Given the description of an element on the screen output the (x, y) to click on. 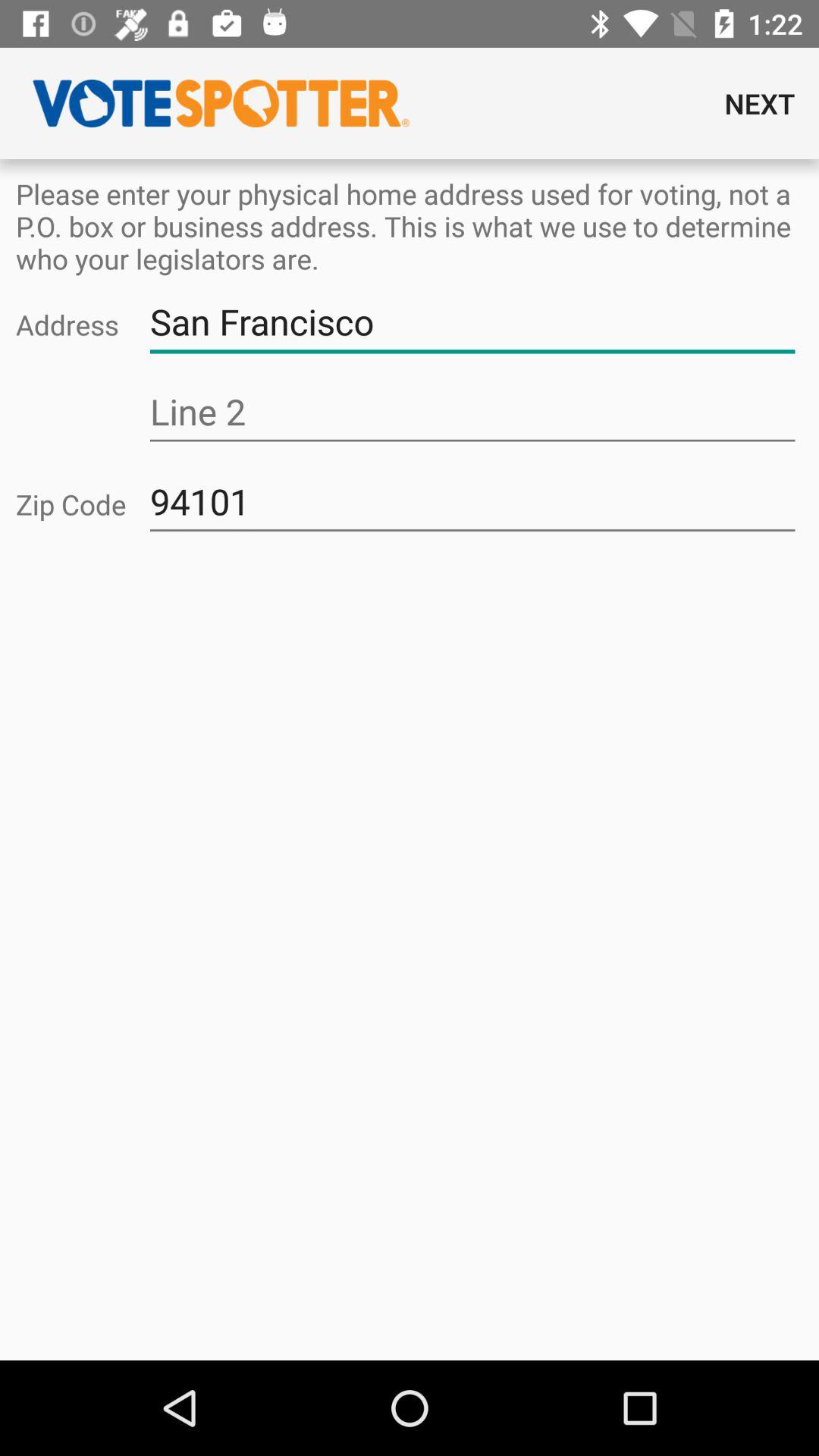
enter further address info (472, 412)
